Given the description of an element on the screen output the (x, y) to click on. 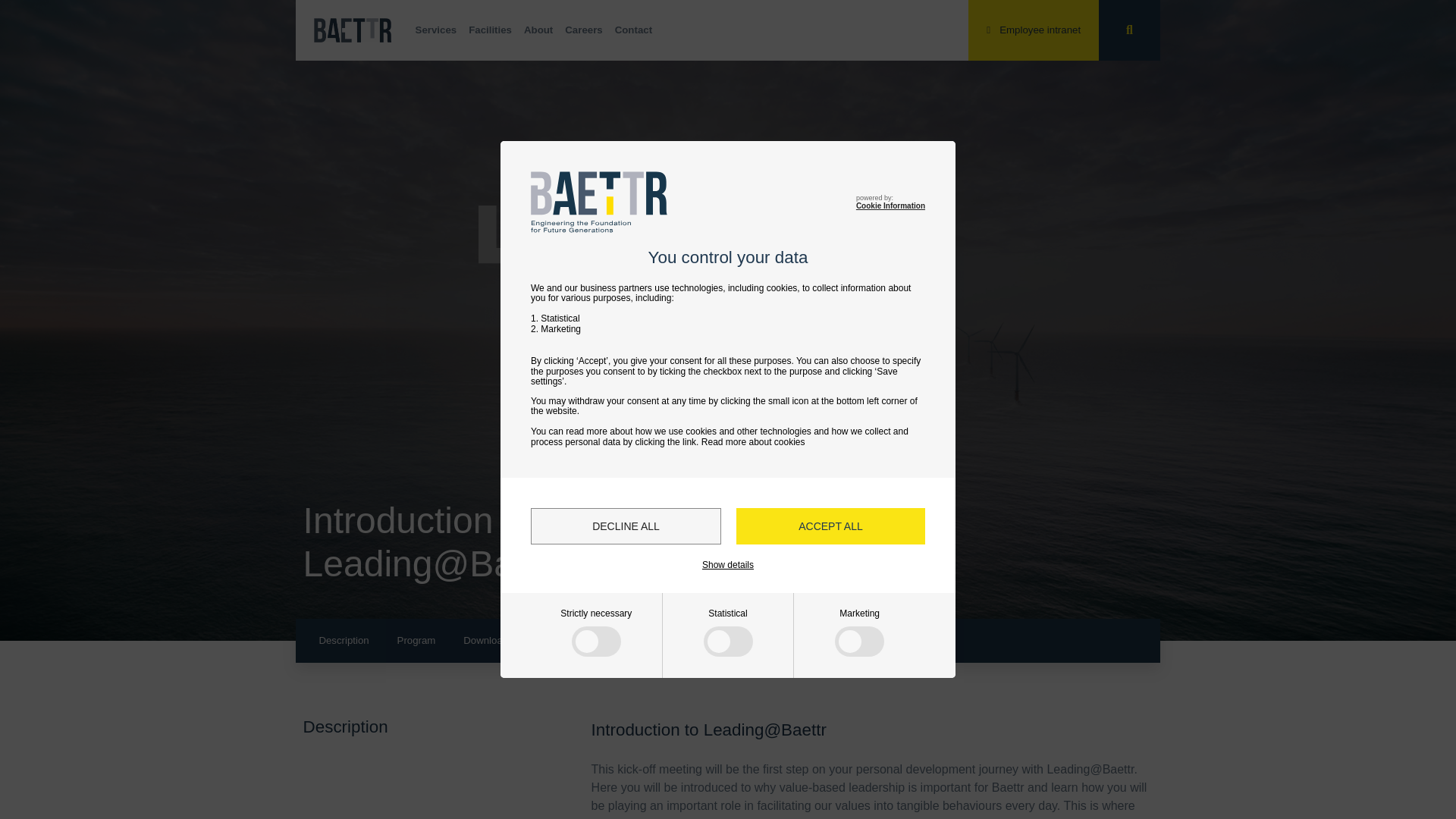
Read more about cookies (753, 441)
ACCEPT ALL (830, 525)
DECLINE ALL (625, 525)
Show details (727, 564)
Cookie Information (890, 205)
